Given the description of an element on the screen output the (x, y) to click on. 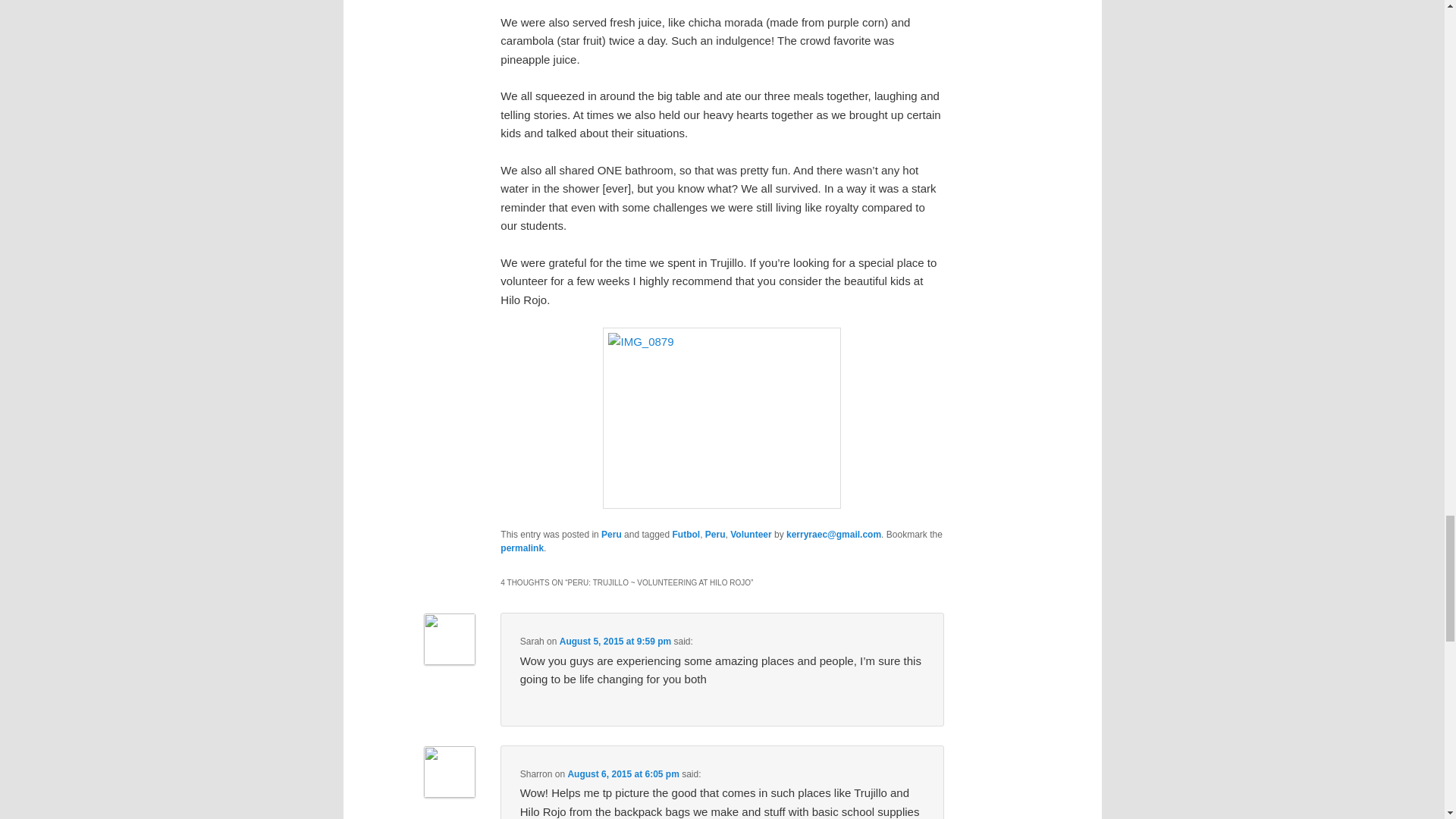
Peru (611, 534)
permalink (521, 547)
Peru (714, 534)
Volunteer (750, 534)
Futbol (686, 534)
August 5, 2015 at 9:59 pm (615, 641)
